Given the description of an element on the screen output the (x, y) to click on. 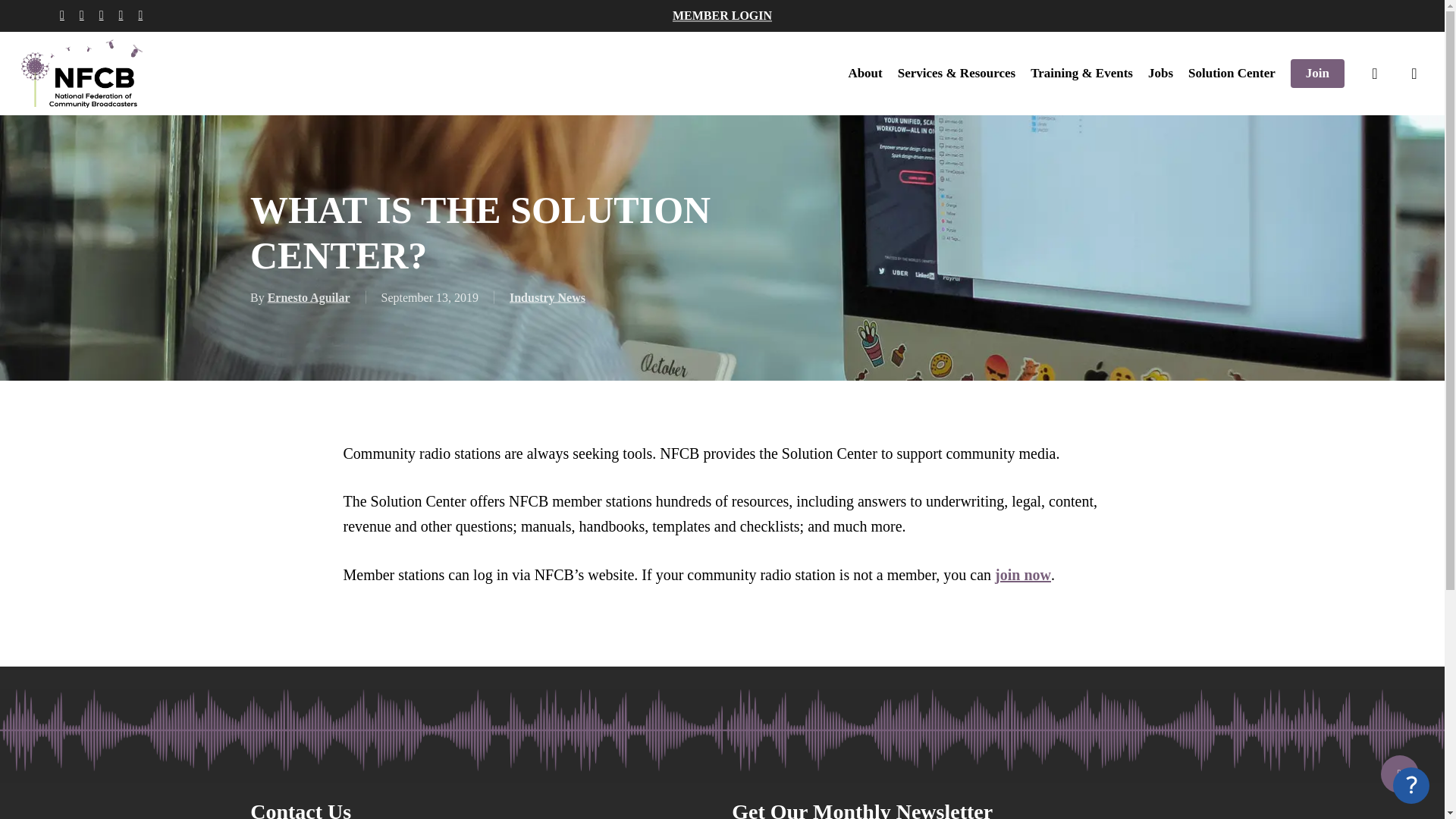
MEMBER LOGIN (721, 15)
Join (1316, 73)
About (864, 73)
Solution Center (1231, 73)
account (1414, 73)
search (1374, 73)
Jobs (1160, 73)
Posts by Ernesto Aguilar (308, 297)
